Given the description of an element on the screen output the (x, y) to click on. 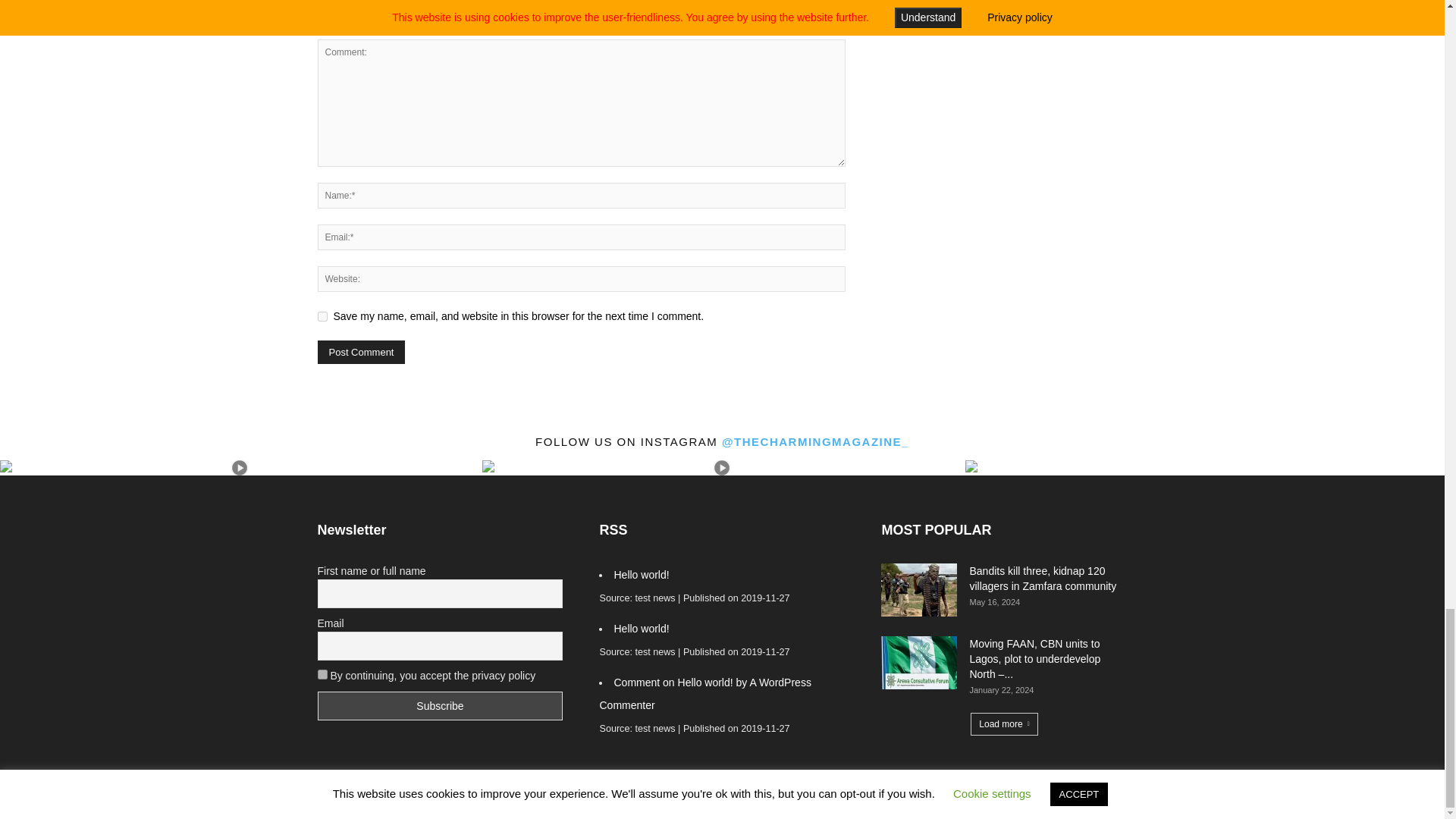
on (321, 674)
Subscribe (439, 705)
Post Comment (360, 351)
yes (321, 316)
